Given the description of an element on the screen output the (x, y) to click on. 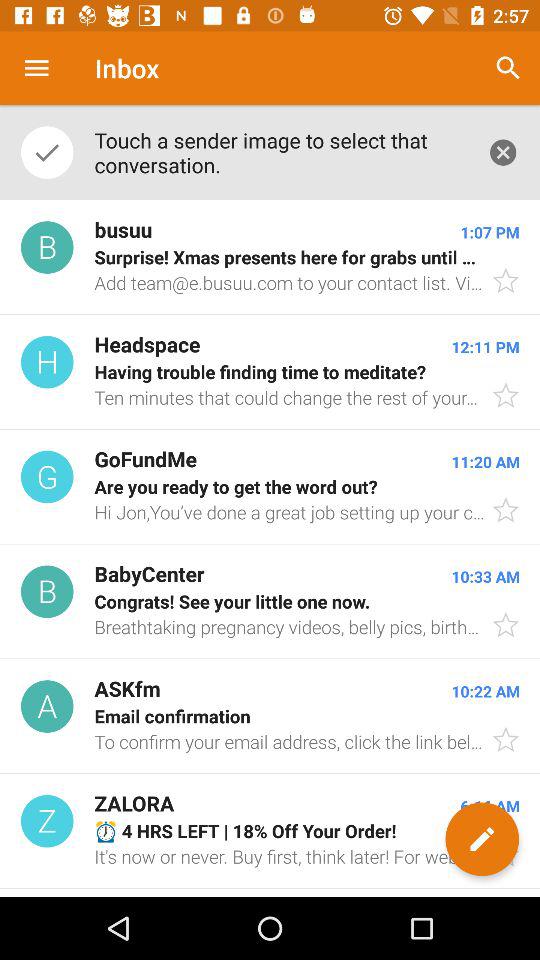
tap the touch a sender item (280, 152)
